Given the description of an element on the screen output the (x, y) to click on. 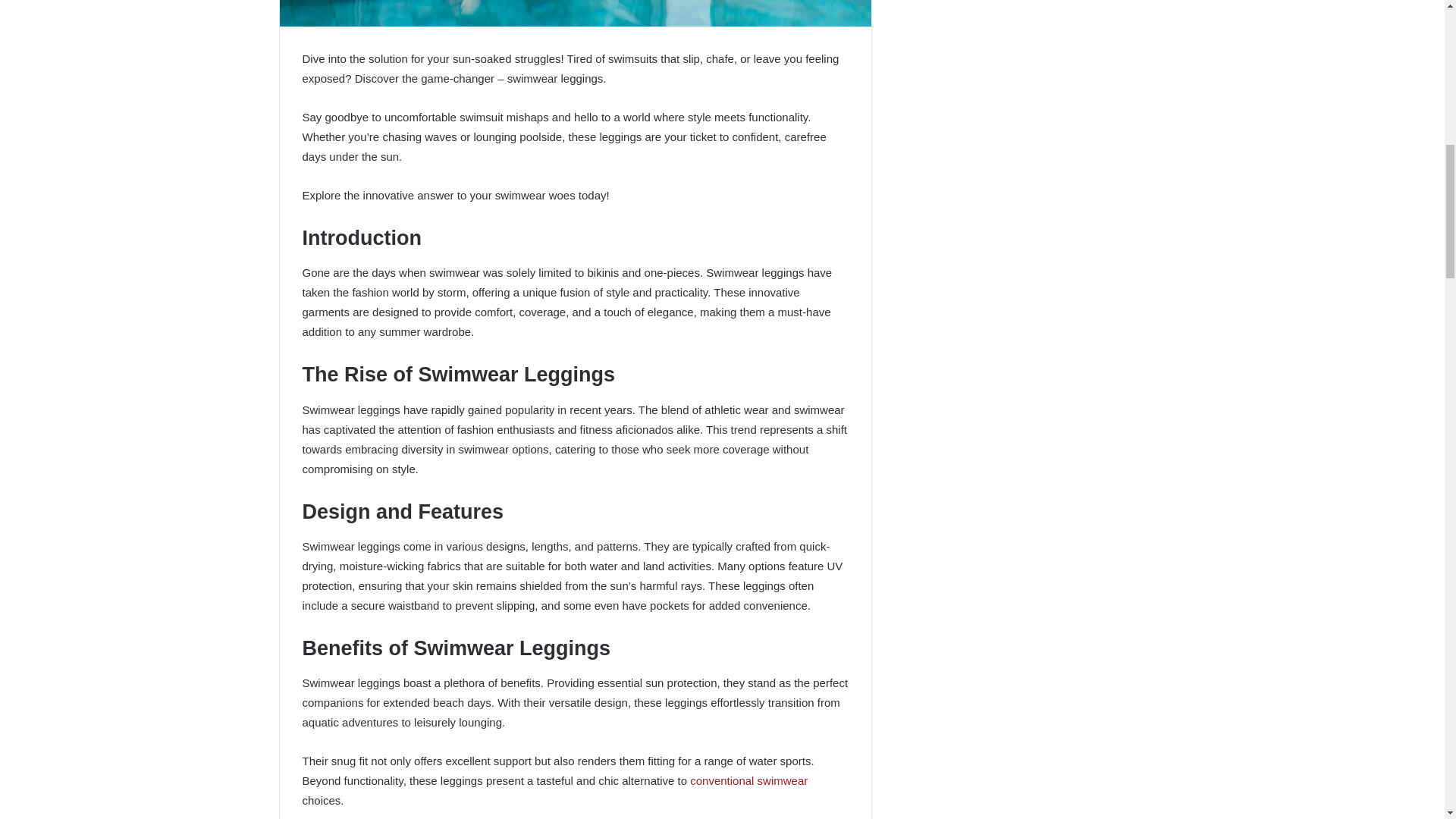
conventional swimwear (749, 780)
